Given the description of an element on the screen output the (x, y) to click on. 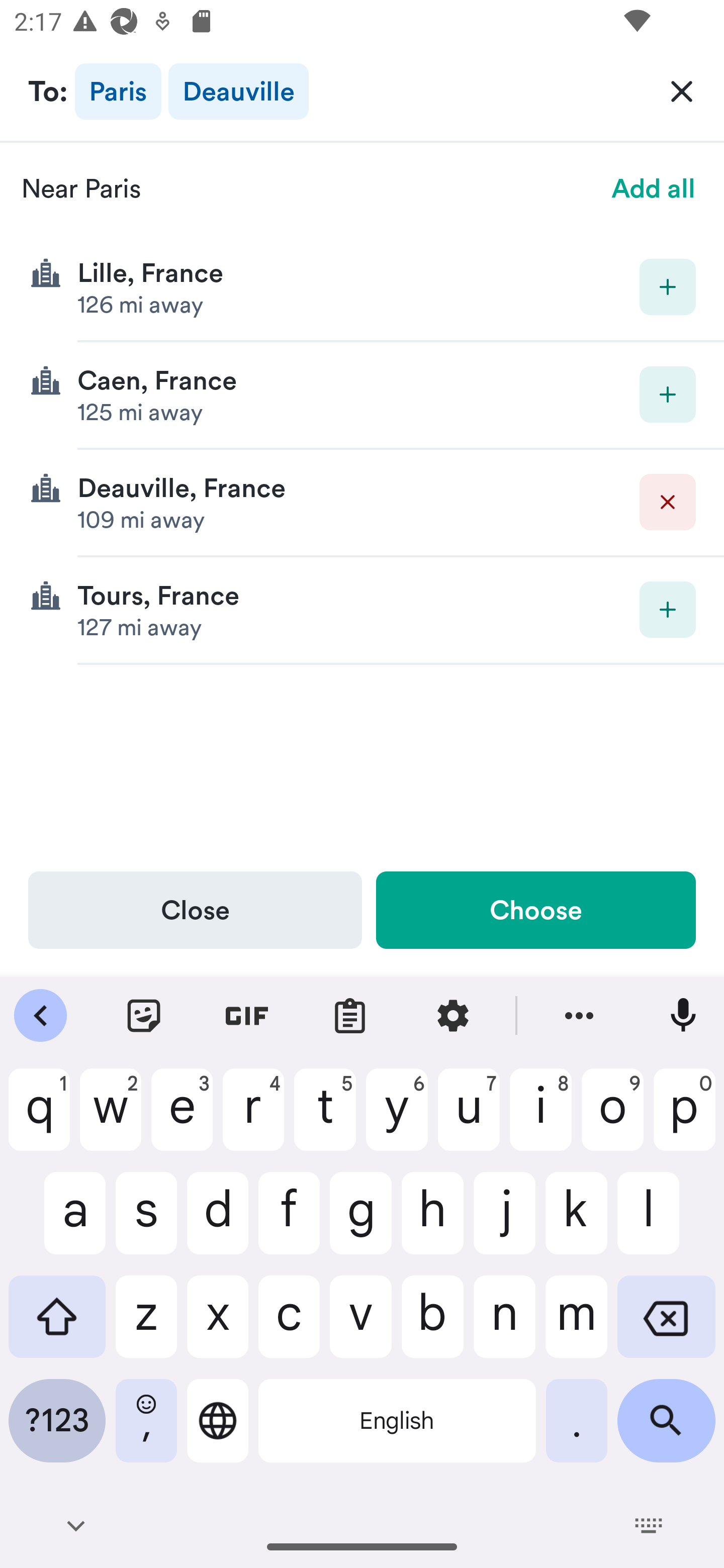
Paris (117, 90)
Deauville (238, 90)
Clear All (681, 90)
Add all (653, 187)
Add destination Lille, France 126 mi away (362, 287)
Add destination (667, 286)
Add destination Caen, France 125 mi away (362, 395)
Add destination (667, 394)
Delete Deauville, France 109 mi away (362, 503)
Delete (667, 501)
Add destination Tours, France 127 mi away (362, 610)
Add destination (667, 609)
Close (195, 909)
Choose (535, 909)
